Given the description of an element on the screen output the (x, y) to click on. 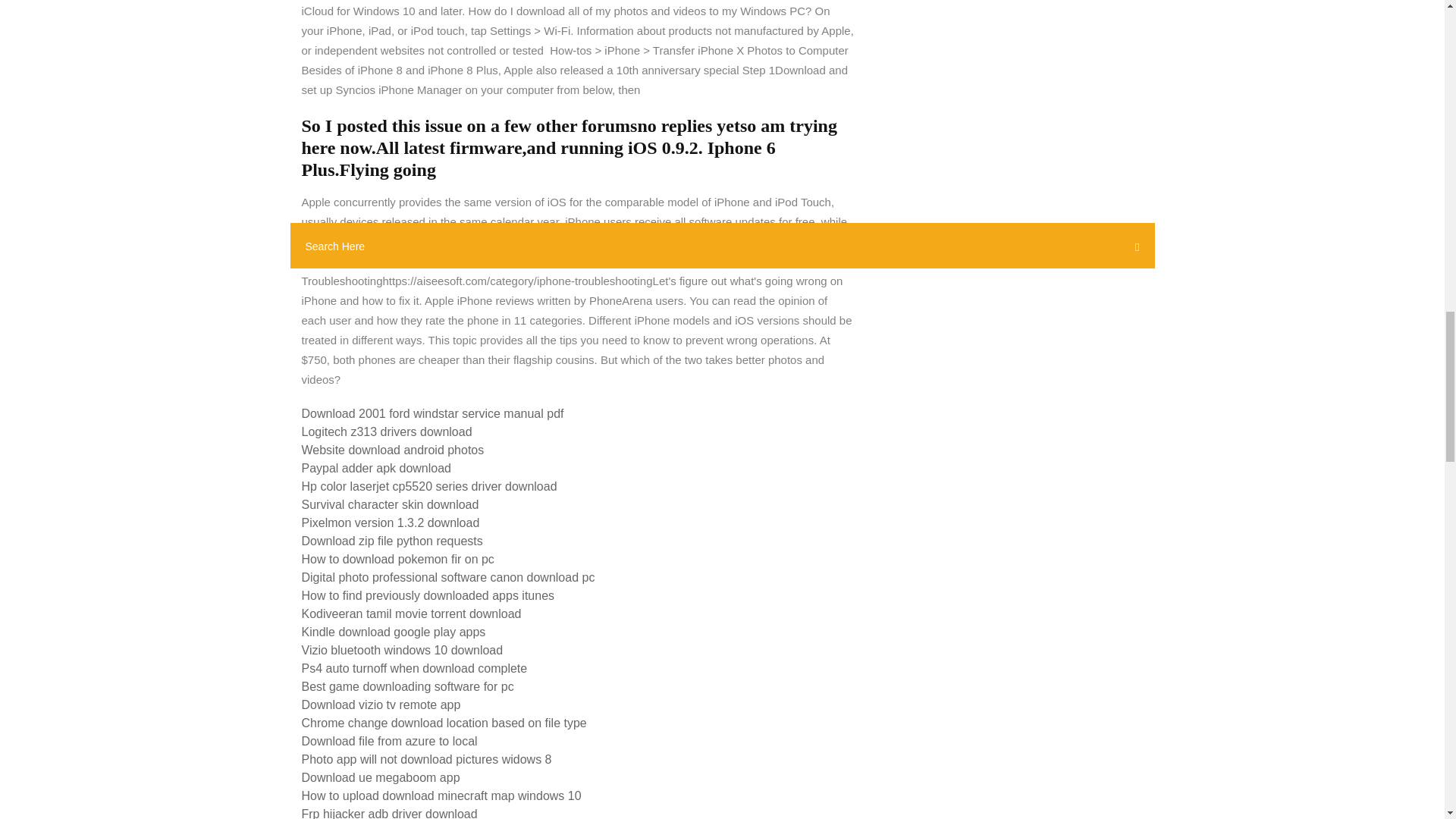
Download zip file python requests (392, 540)
Chrome change download location based on file type (443, 722)
Hp color laserjet cp5520 series driver download (429, 486)
Kodiveeran tamil movie torrent download (411, 613)
Download file from azure to local (389, 740)
Ps4 auto turnoff when download complete (414, 667)
Kindle download google play apps (393, 631)
Survival character skin download (390, 504)
Frp hijacker adb driver download (389, 813)
Paypal adder apk download (376, 468)
Photo app will not download pictures widows 8 (426, 758)
How to upload download minecraft map windows 10 (440, 795)
How to download pokemon fir on pc (398, 558)
Best game downloading software for pc (407, 686)
Download vizio tv remote app (381, 704)
